Given the description of an element on the screen output the (x, y) to click on. 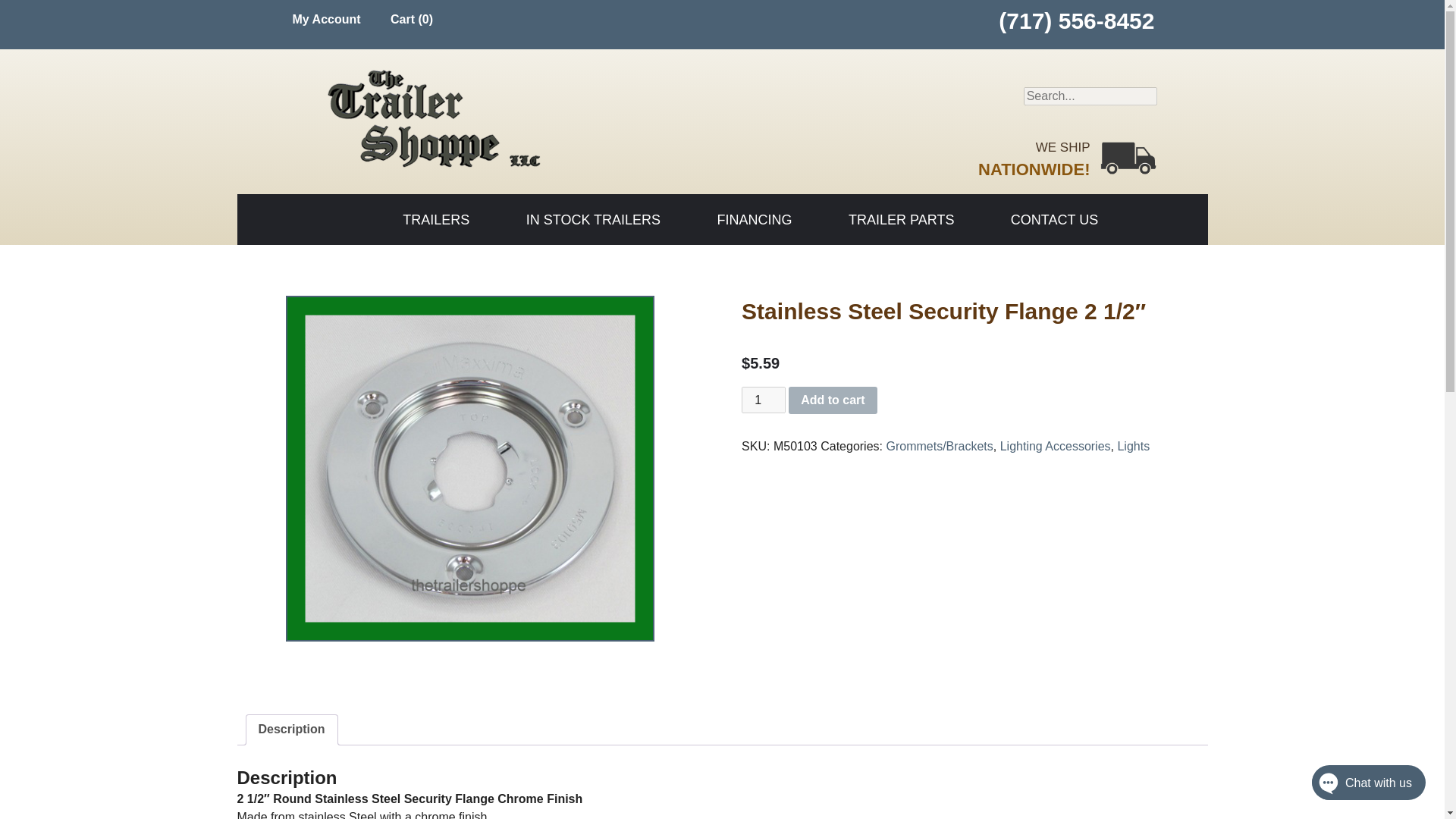
TRAILER PARTS (900, 219)
FINANCING (754, 219)
Chat with us (1353, 786)
TRAILERS (435, 219)
My Account (324, 19)
CONTACT US (1053, 219)
Add to cart (832, 400)
1 (763, 399)
IN STOCK TRAILERS (593, 219)
